Given the description of an element on the screen output the (x, y) to click on. 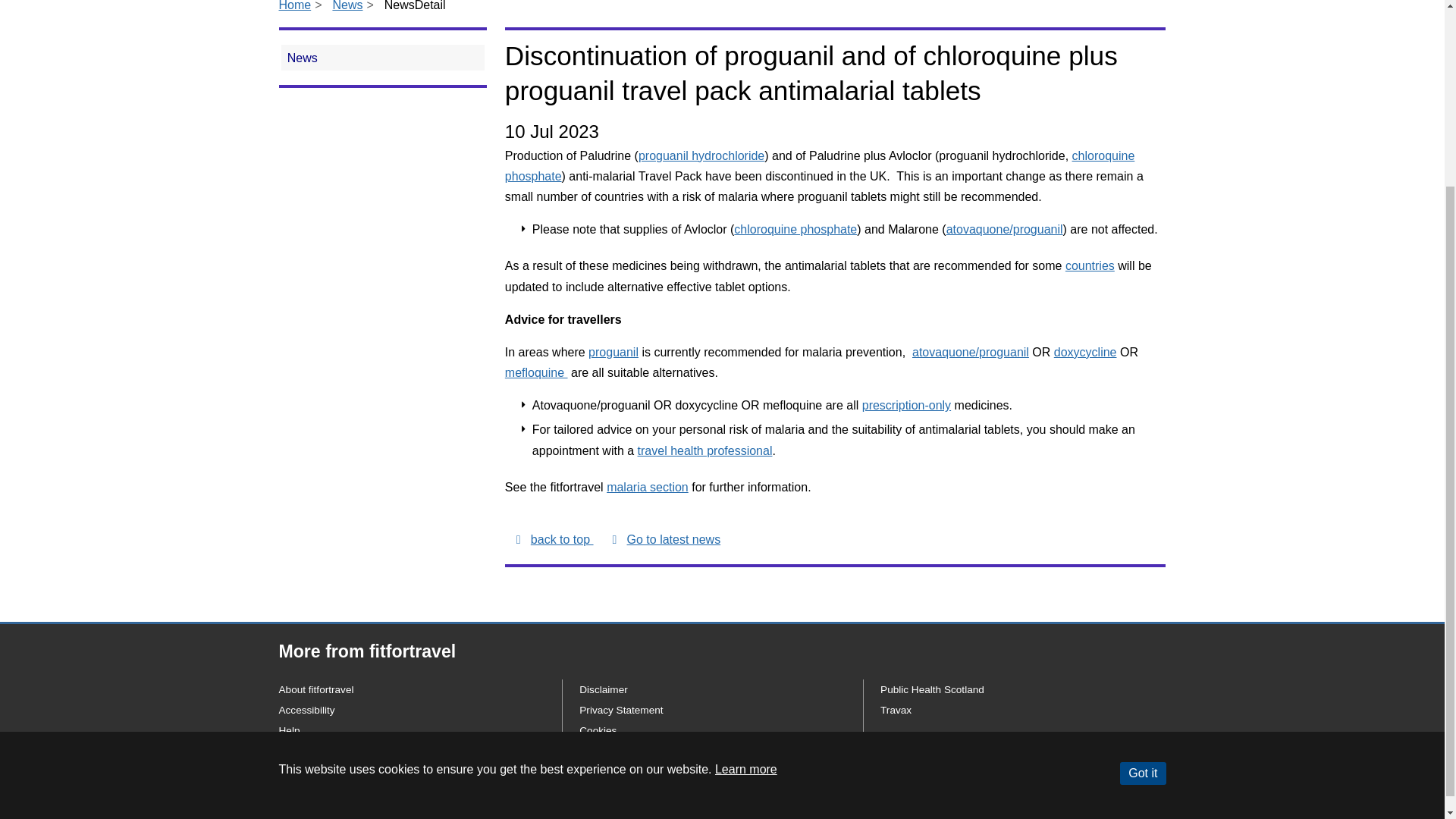
News (382, 57)
doxycycline (1085, 351)
Cookies (597, 730)
News (346, 5)
chloroquine phosphate (819, 165)
Sitemap (298, 751)
prescription-only (905, 404)
Public Health Scotland (932, 689)
Learn more (745, 533)
proguanil (613, 351)
